Given the description of an element on the screen output the (x, y) to click on. 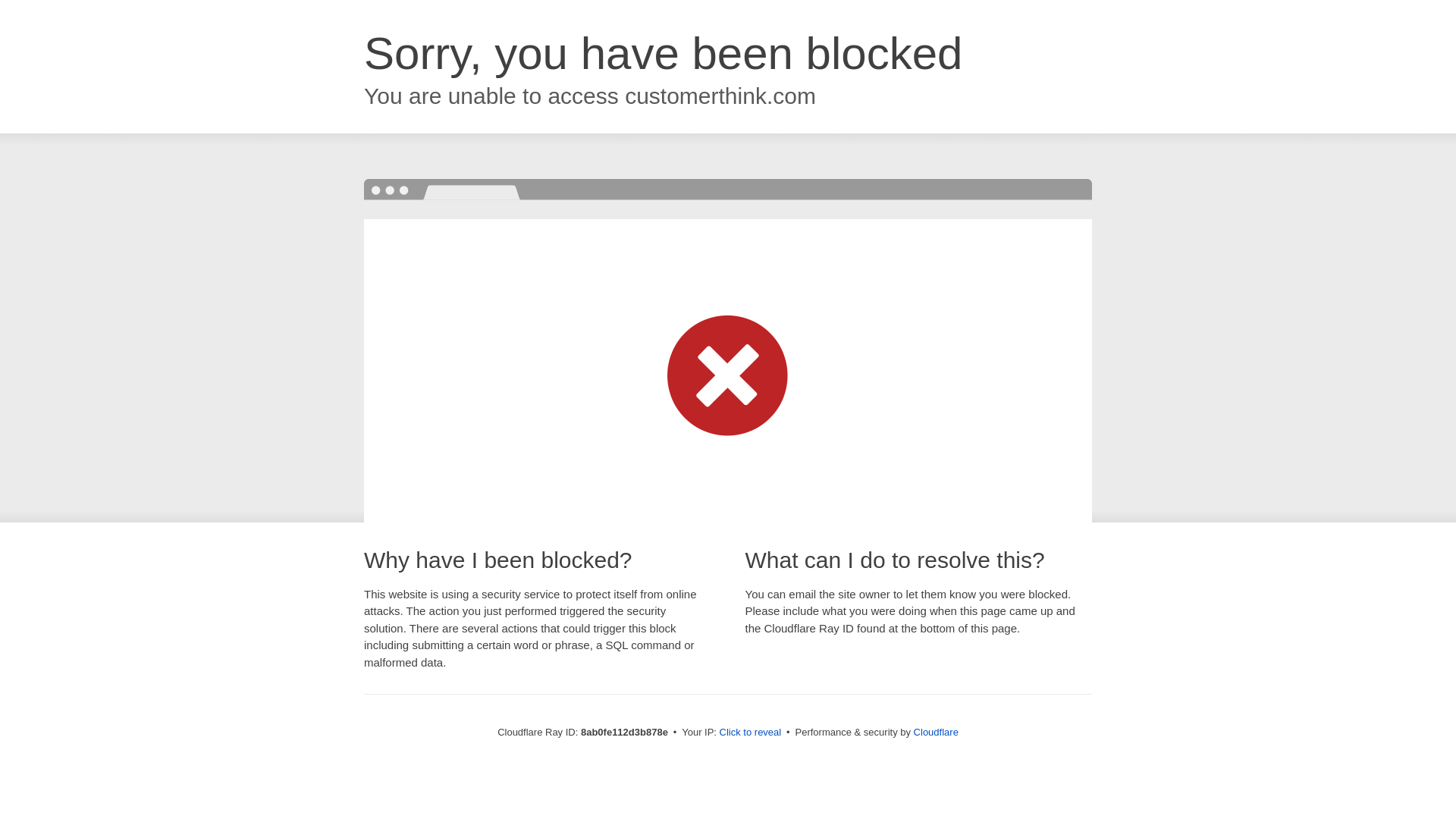
Cloudflare (936, 731)
Click to reveal (750, 732)
